Given the description of an element on the screen output the (x, y) to click on. 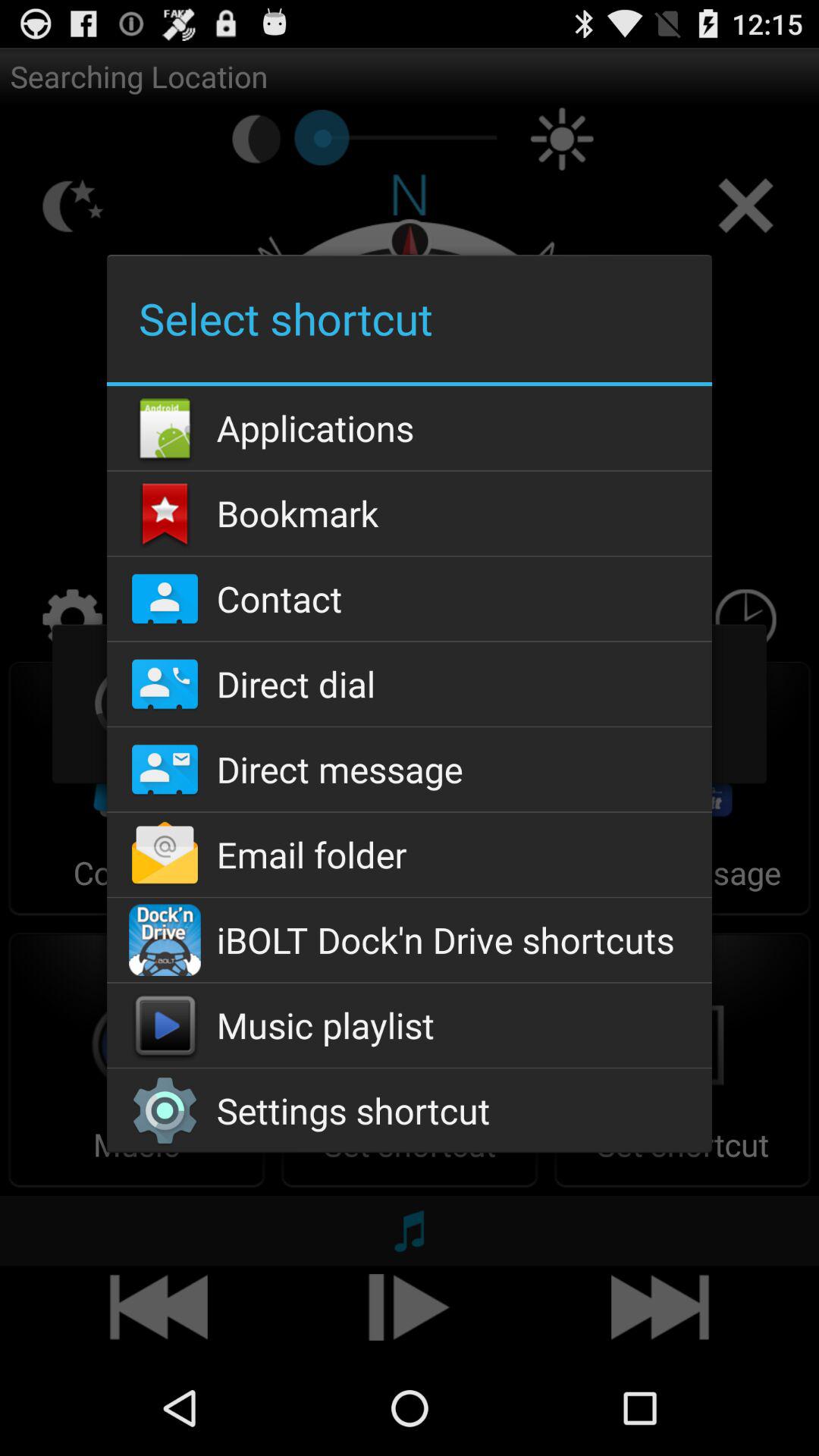
choose the icon below the music playlist app (409, 1110)
